Given the description of an element on the screen output the (x, y) to click on. 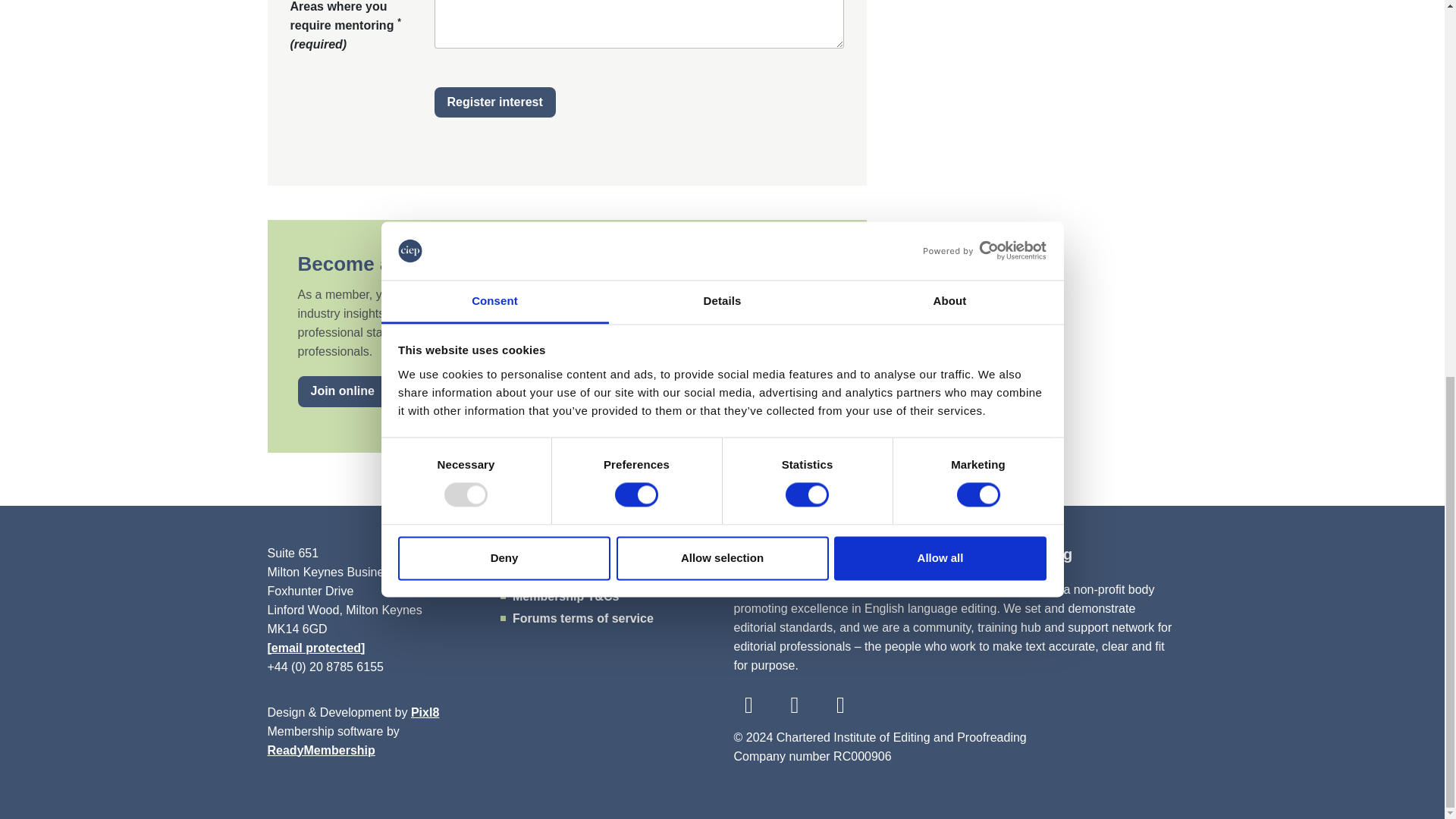
CIEP Facebook (793, 705)
CIEP Twitter (748, 705)
CIEP LinkedIn (840, 705)
